Given the description of an element on the screen output the (x, y) to click on. 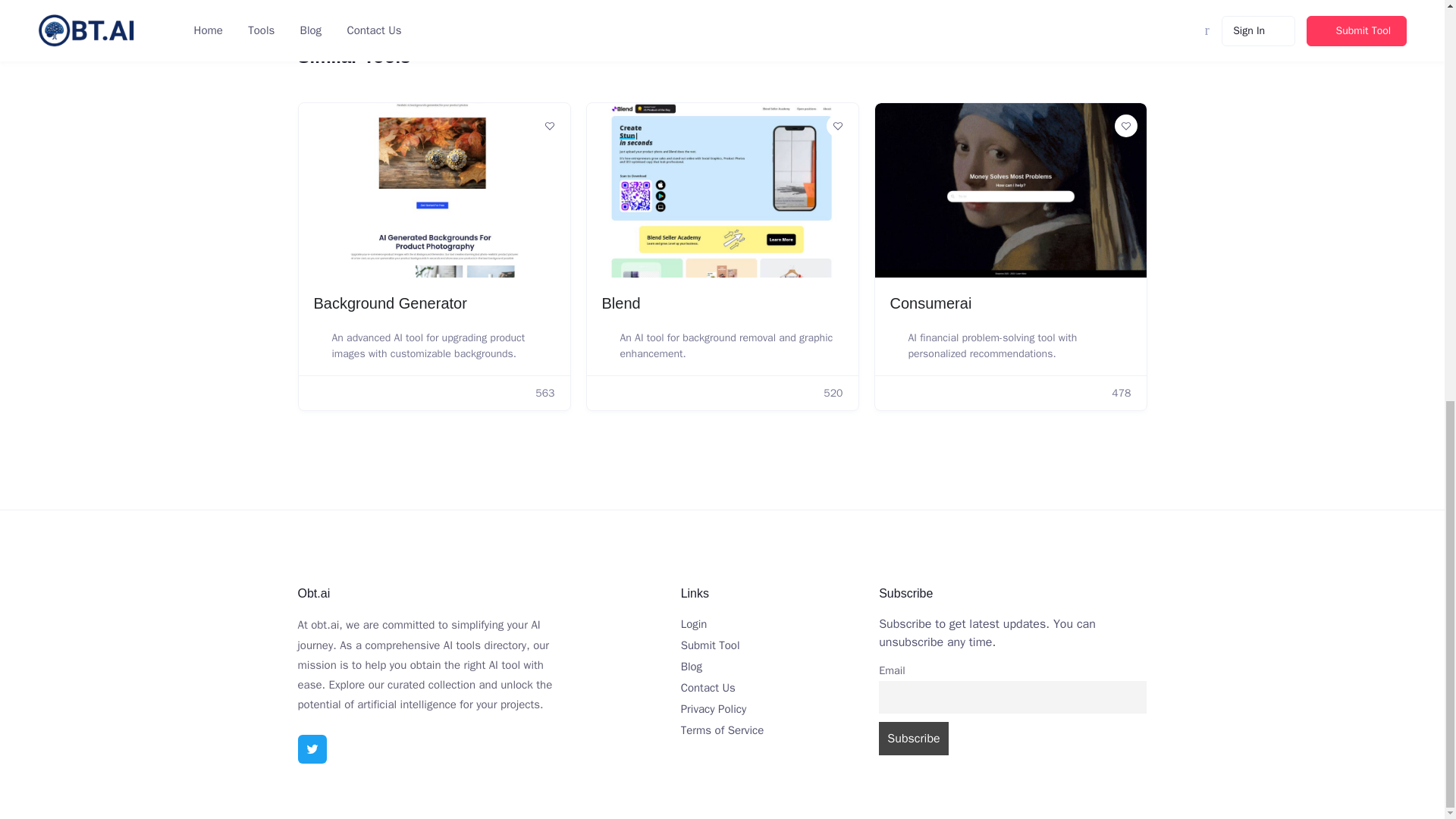
Subscribe (914, 737)
